Given the description of an element on the screen output the (x, y) to click on. 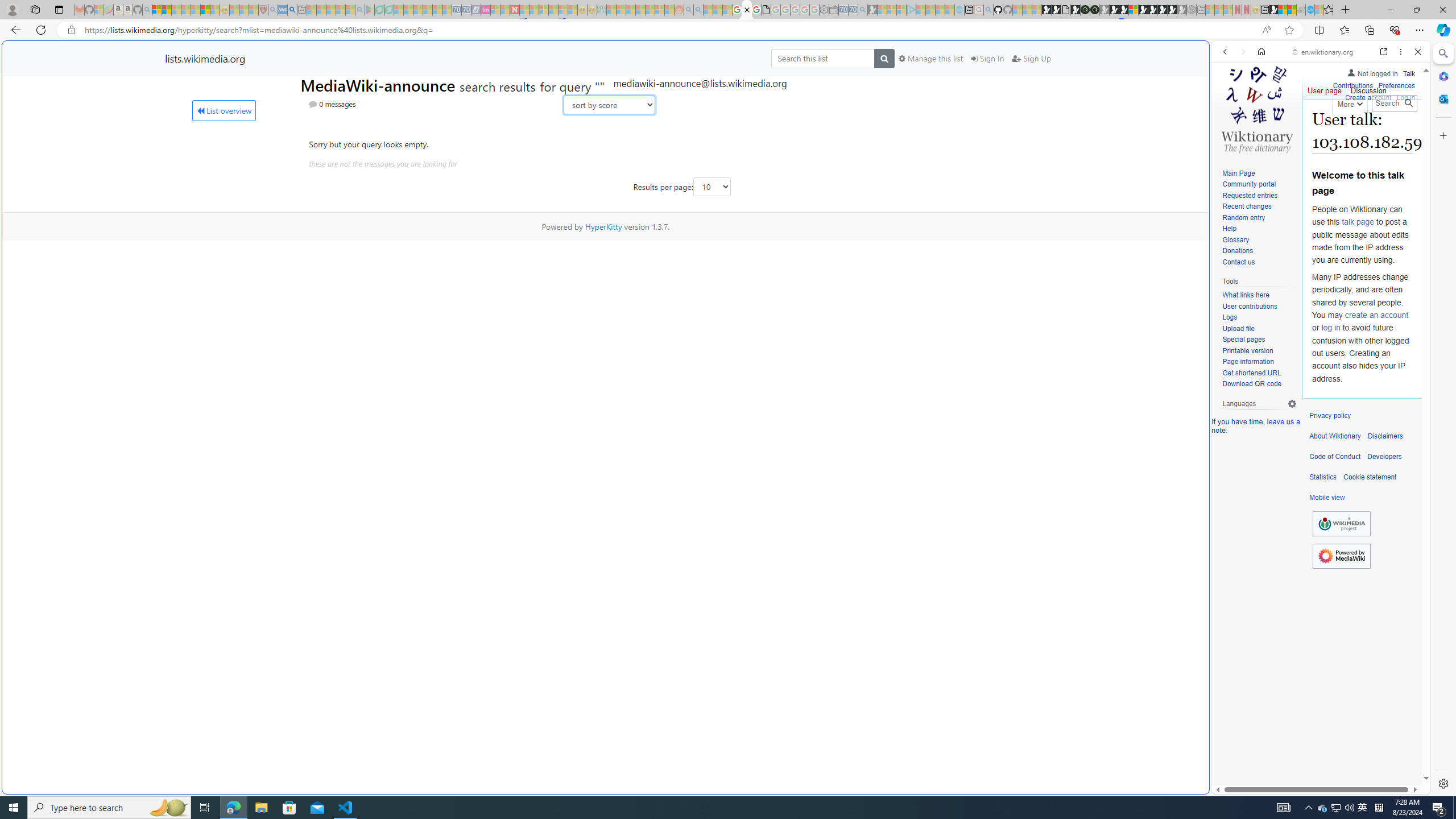
Wiktionary (1315, 380)
HyperKitty (603, 226)
Donations (1259, 251)
